Given the description of an element on the screen output the (x, y) to click on. 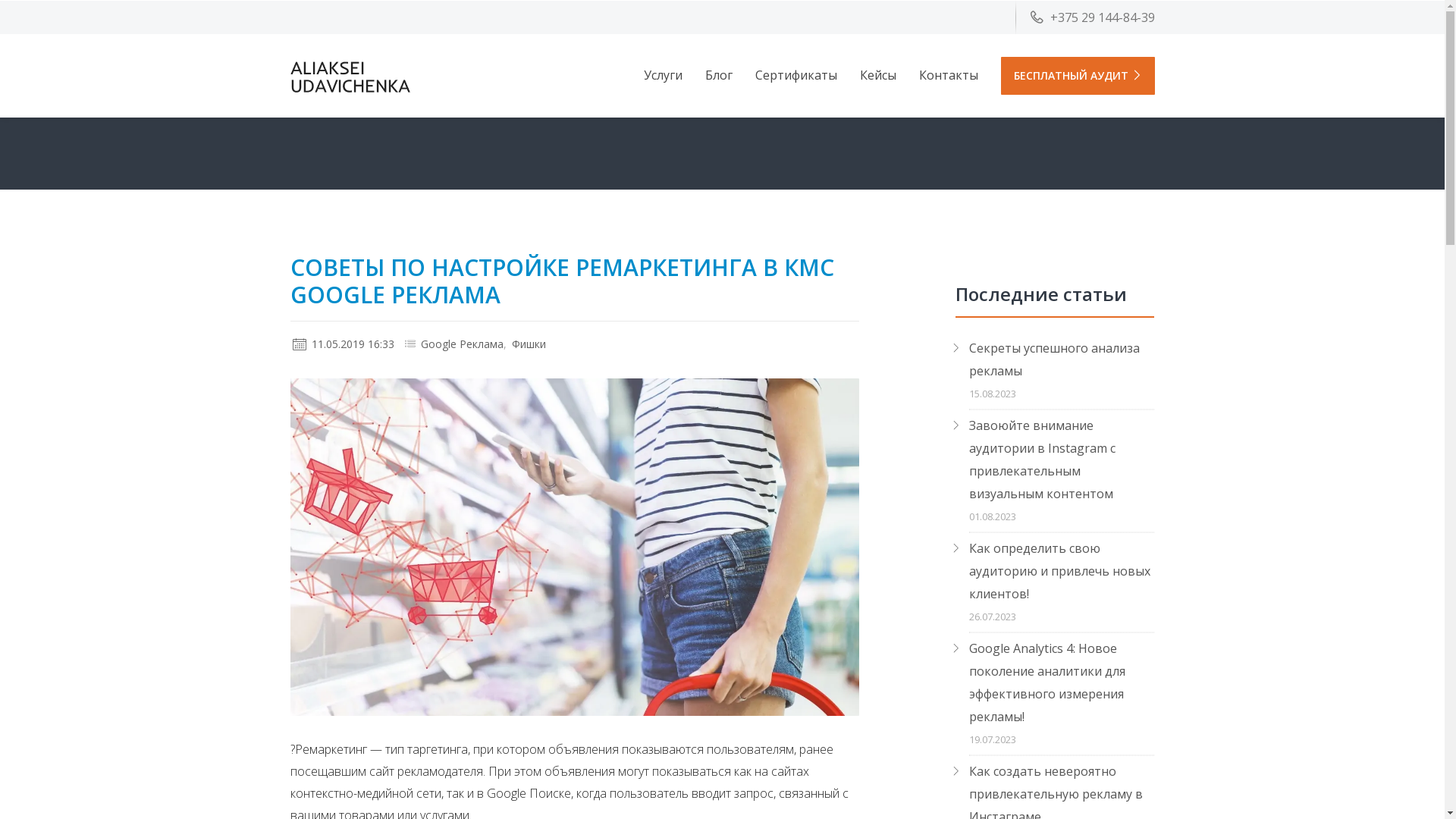
11.05.2019 16:33 Element type: text (343, 343)
+375 29 144-84-39 Element type: text (1091, 17)
